Given the description of an element on the screen output the (x, y) to click on. 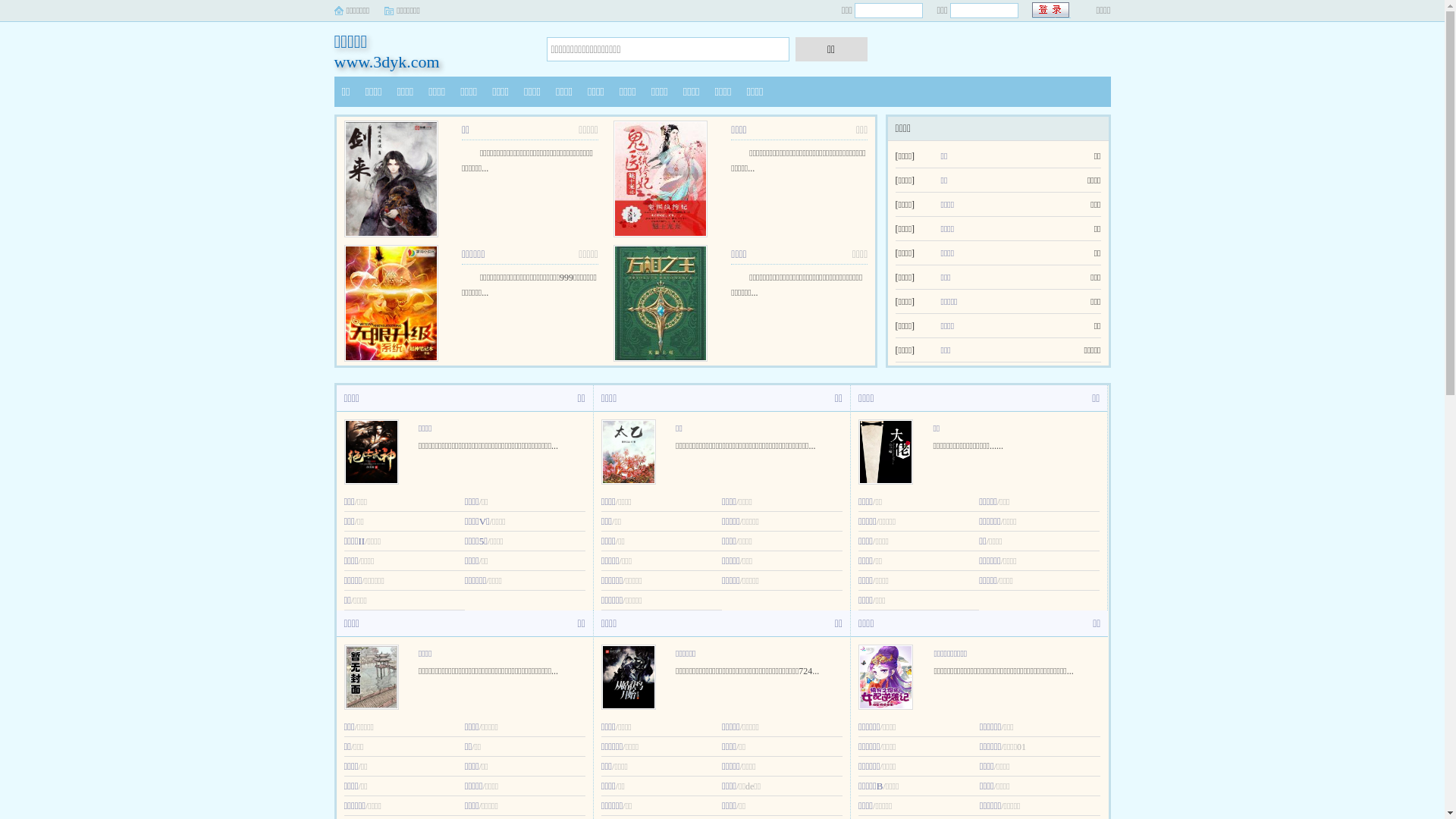
  Element type: text (1051, 10)
